Given the description of an element on the screen output the (x, y) to click on. 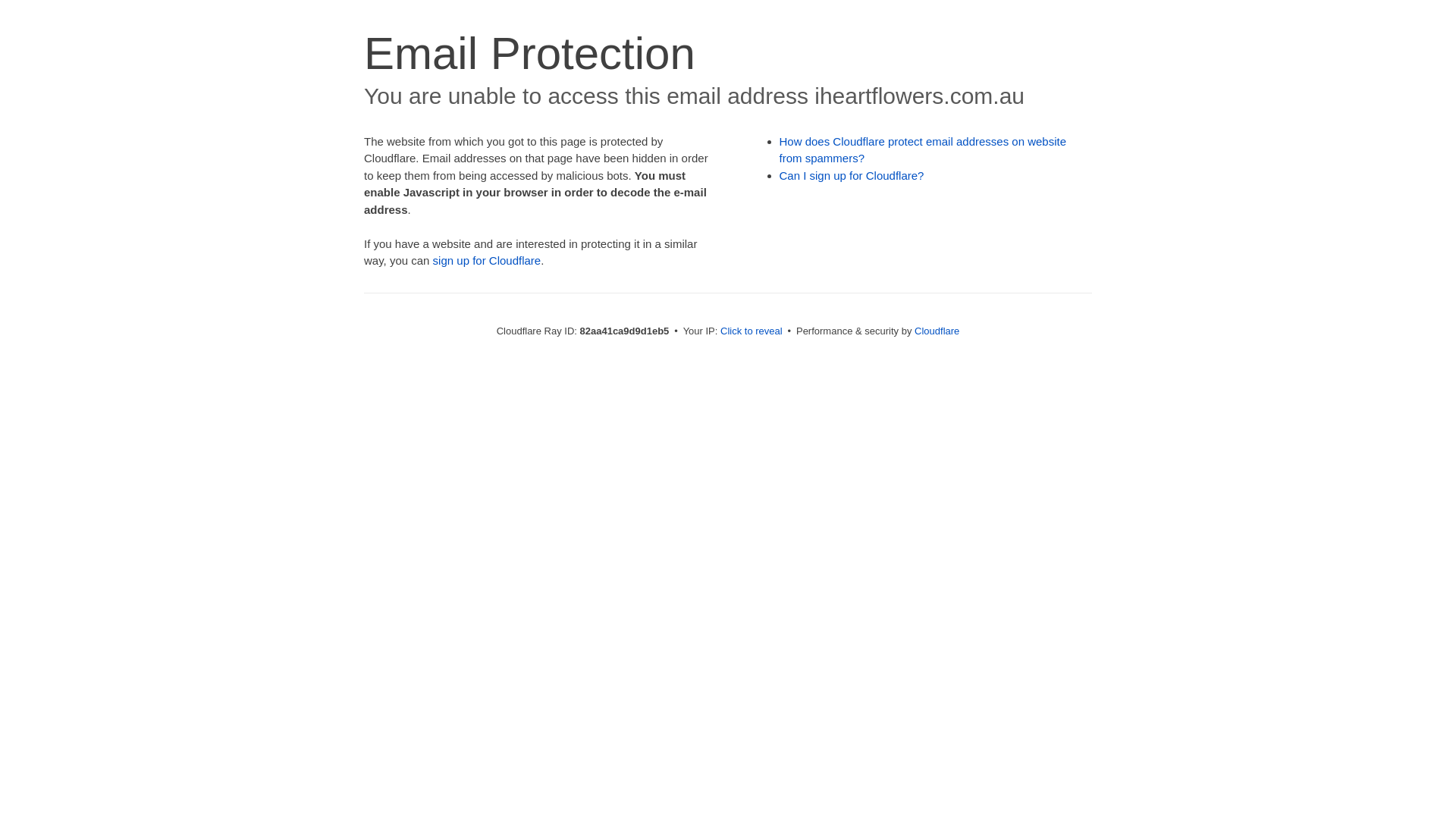
Cloudflare Element type: text (936, 330)
Click to reveal Element type: text (751, 330)
sign up for Cloudflare Element type: text (487, 260)
Can I sign up for Cloudflare? Element type: text (851, 175)
